Given the description of an element on the screen output the (x, y) to click on. 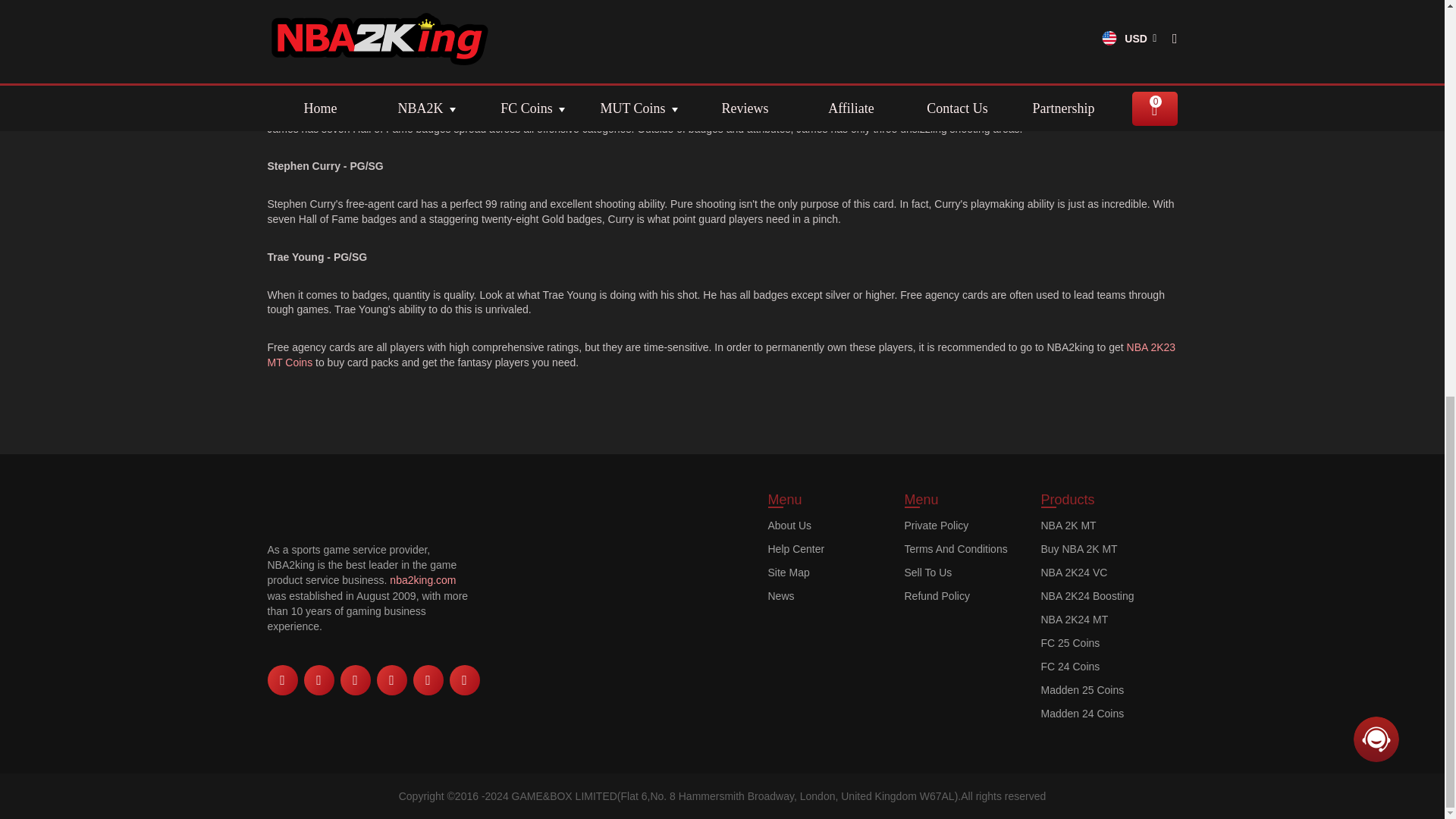
E-mail (427, 680)
Site Map (823, 572)
Sell To Us (960, 572)
Private Policy (960, 525)
About Us (823, 525)
pay (607, 594)
Youtube (354, 680)
Help Center (823, 548)
Skype (390, 680)
NBA 2K23 MT Coins (720, 354)
News (823, 595)
Facebook (281, 680)
Terms And Conditions (960, 548)
nba2king.com (422, 580)
Discord (463, 680)
